Given the description of an element on the screen output the (x, y) to click on. 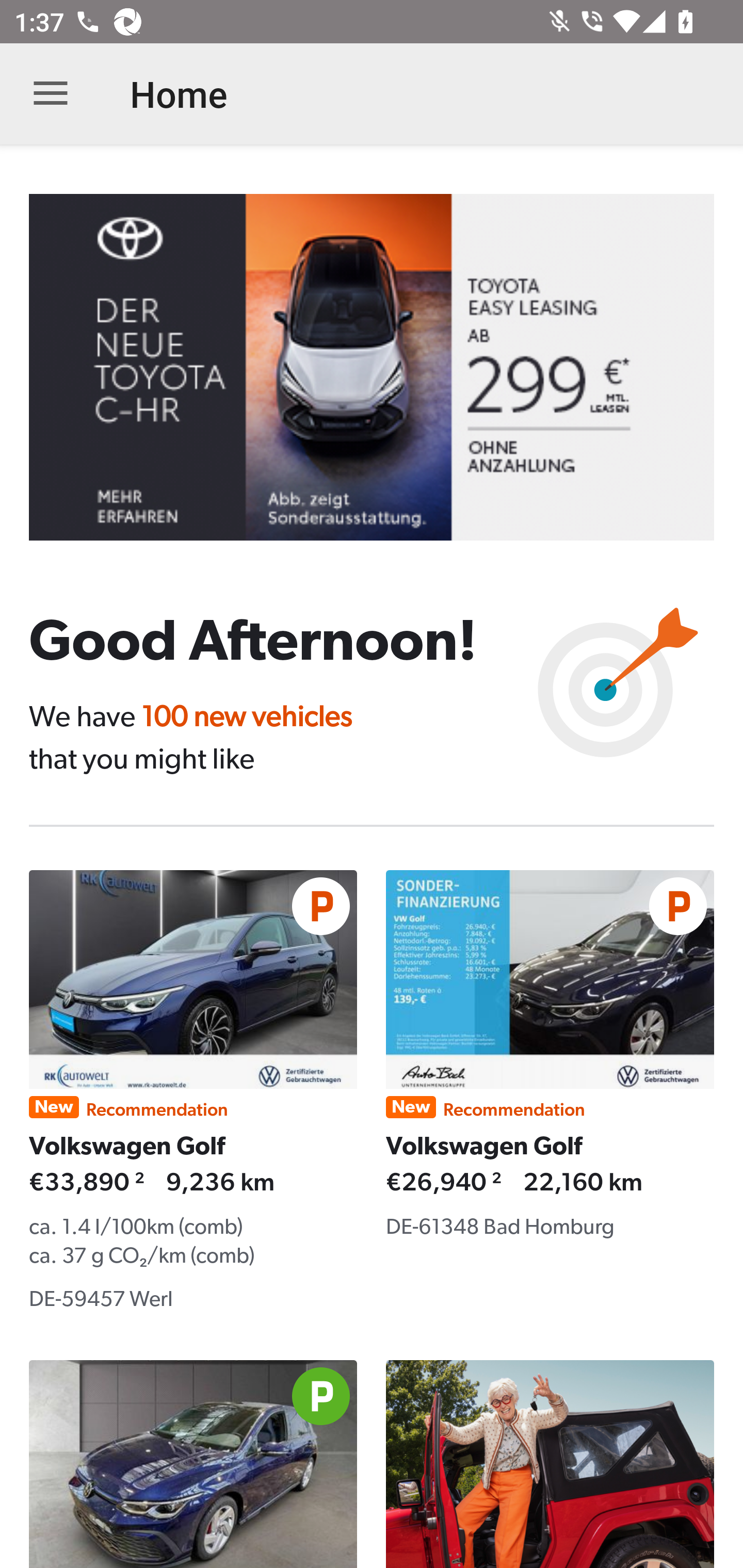
Open navigation bar (50, 93)
B31340770 (385, 367)
